Given the description of an element on the screen output the (x, y) to click on. 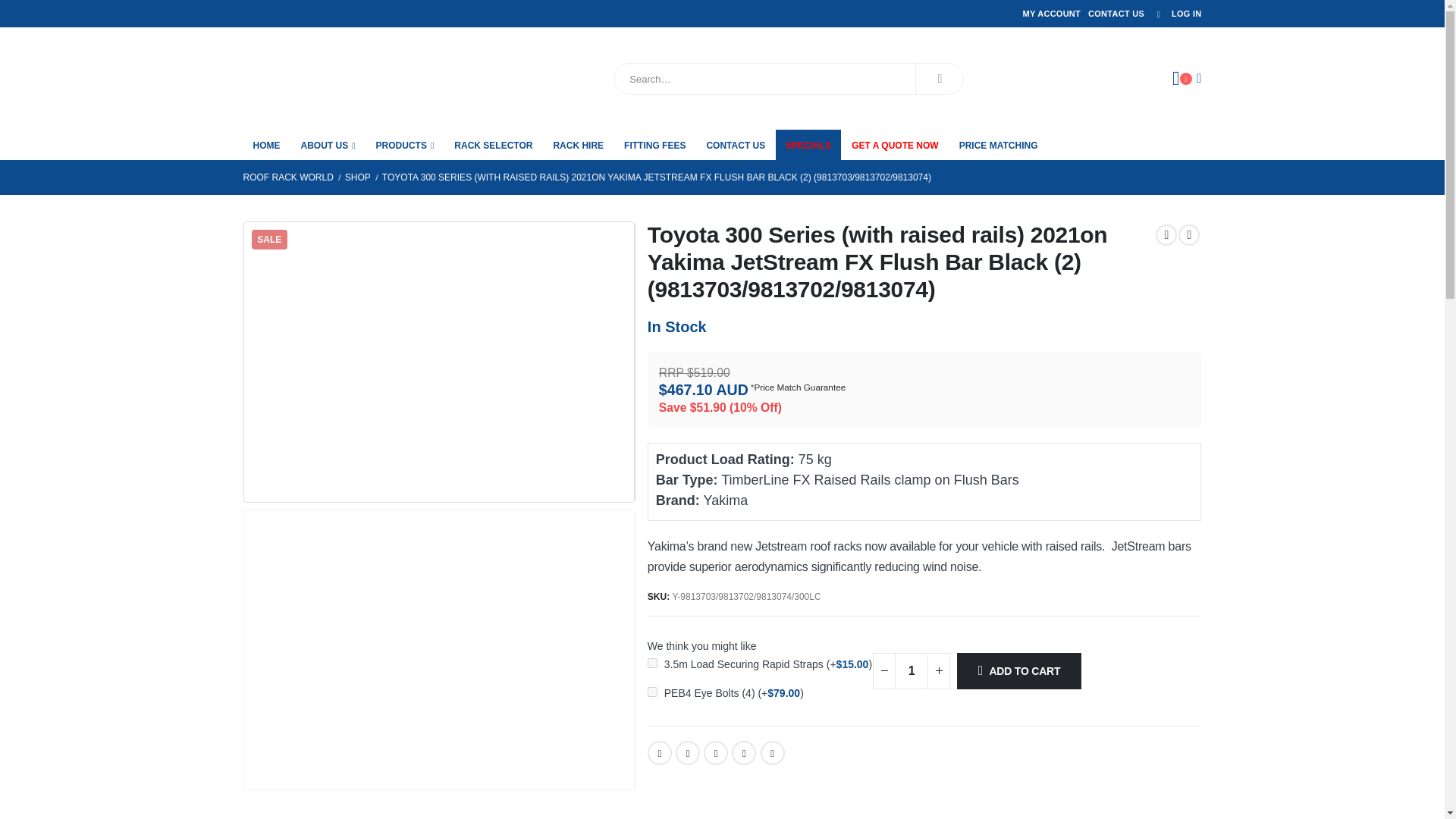
ABOUT US (328, 144)
LinkedIn (715, 752)
timberlinefxyakimarailmountroofrackworldsa (438, 360)
Email (772, 752)
Roof Rack World - SA's largest collection of roofracks (328, 78)
LOG IN (1174, 13)
Facebook (659, 752)
3-5m-load-securing-rapid-straps (652, 663)
peb4-eye-bolts-4 (652, 691)
HOME (266, 144)
